Given the description of an element on the screen output the (x, y) to click on. 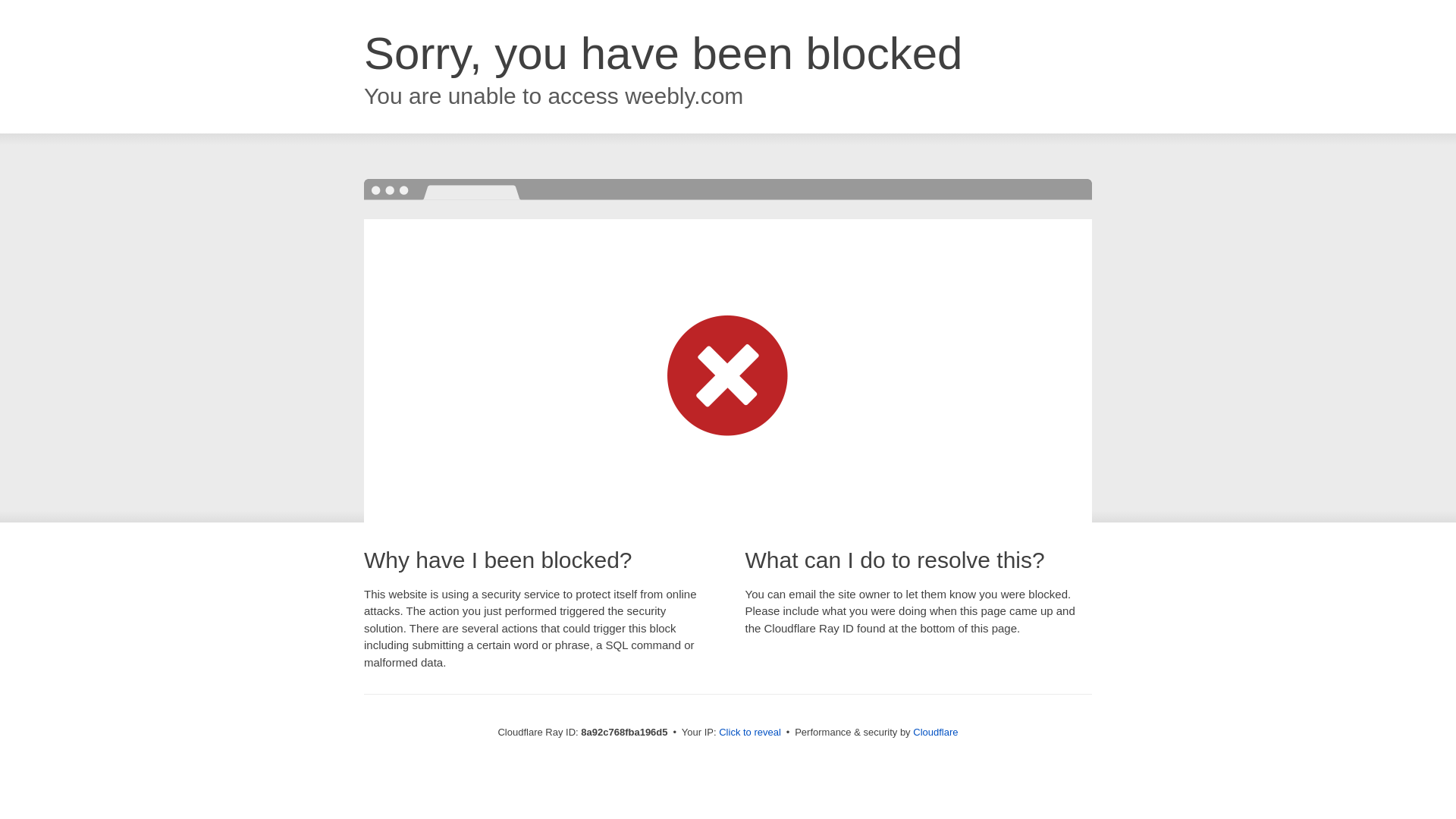
Cloudflare (935, 731)
Click to reveal (749, 732)
